Given the description of an element on the screen output the (x, y) to click on. 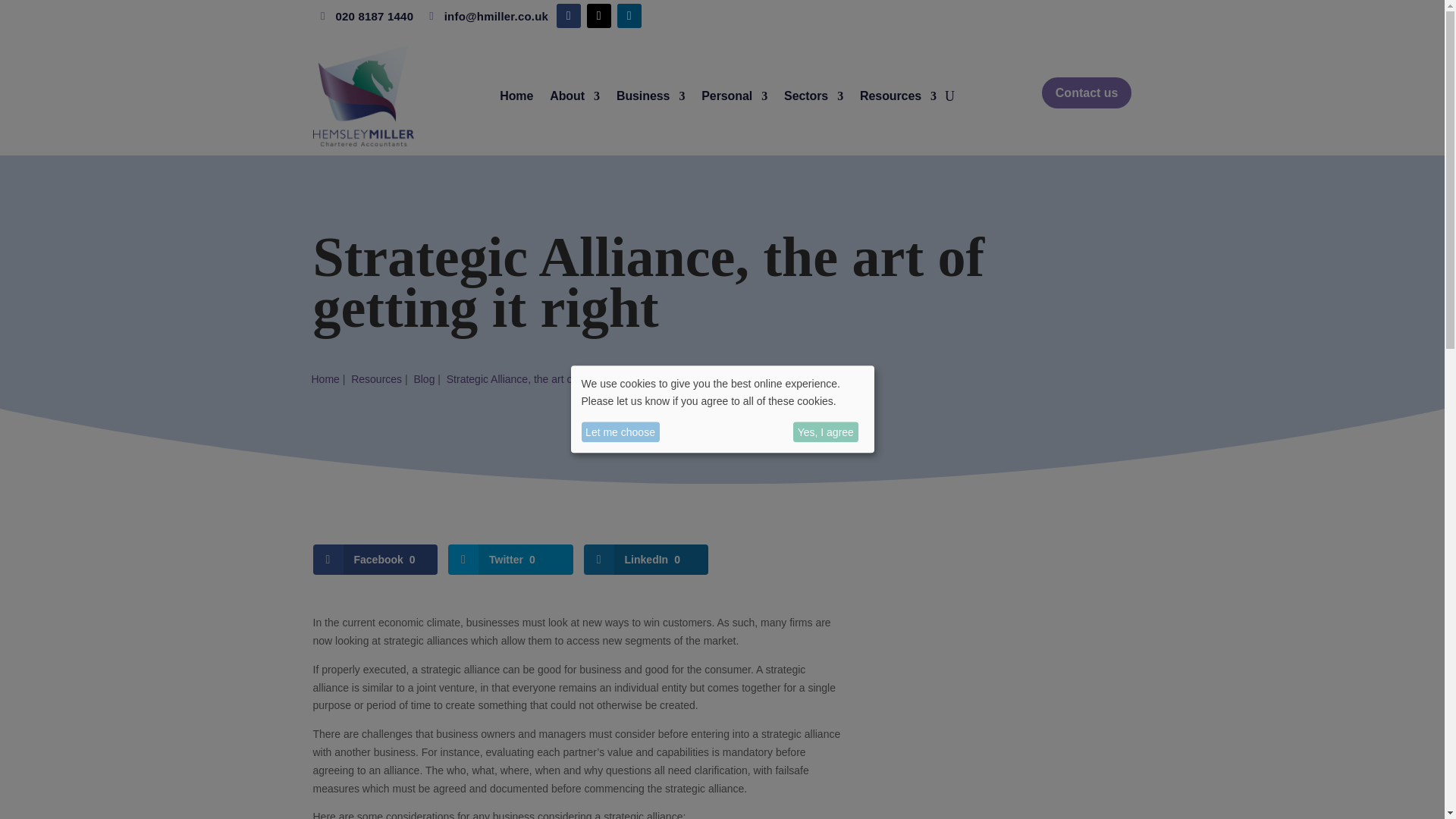
Asset 1 (363, 95)
Follow on X (598, 15)
Follow on LinkedIn (629, 15)
Follow on Facebook (568, 15)
